Given the description of an element on the screen output the (x, y) to click on. 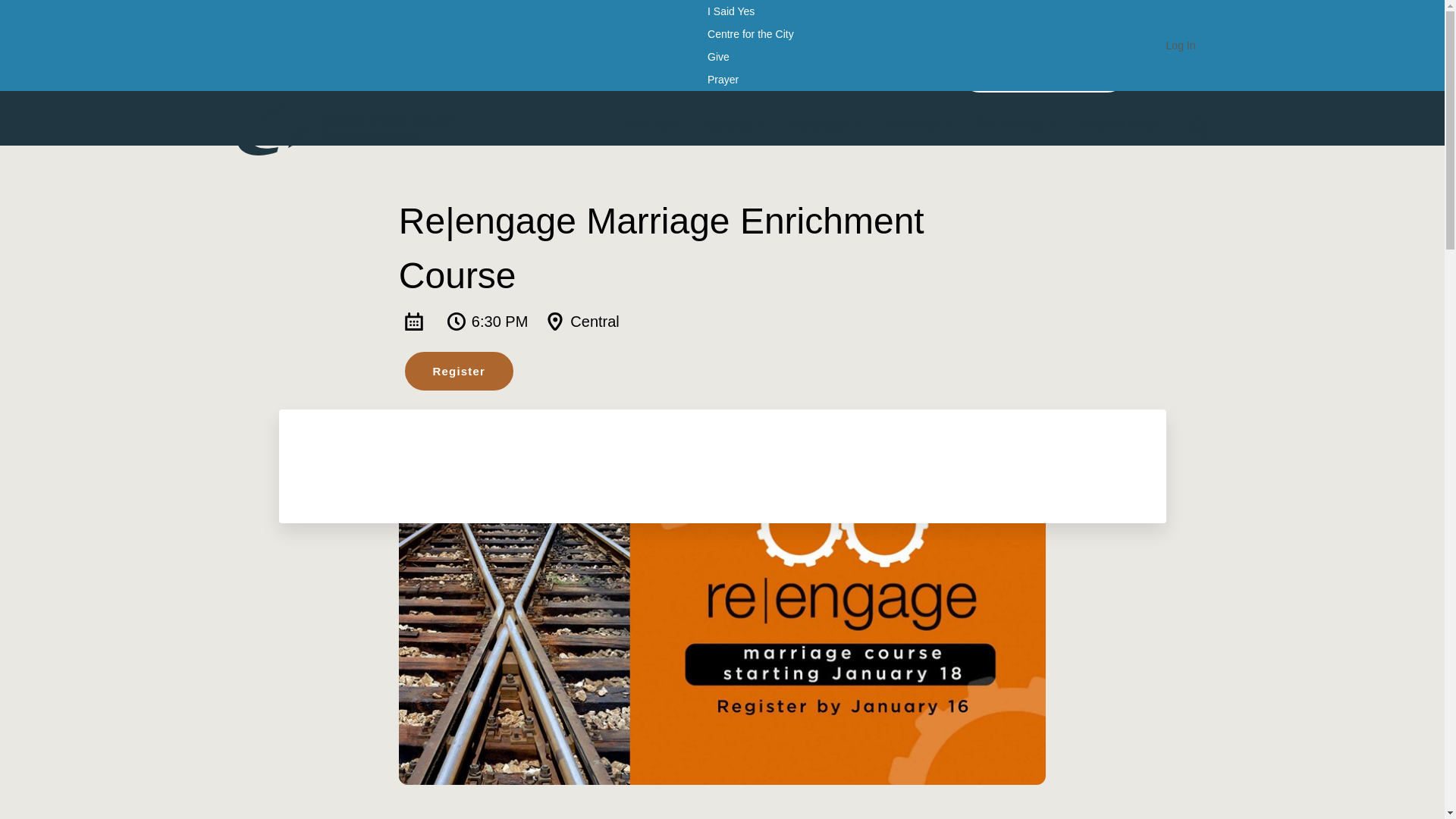
Register (458, 371)
Campuses (825, 125)
Get Involved (1016, 125)
Back to All Events (1042, 72)
New Here (651, 124)
Give (718, 56)
Ministries (919, 125)
Centre for the City (750, 33)
Log In (1181, 45)
About Us (733, 125)
Prayer (723, 78)
I Said Yes (731, 11)
Open menu (1194, 127)
